Given the description of an element on the screen output the (x, y) to click on. 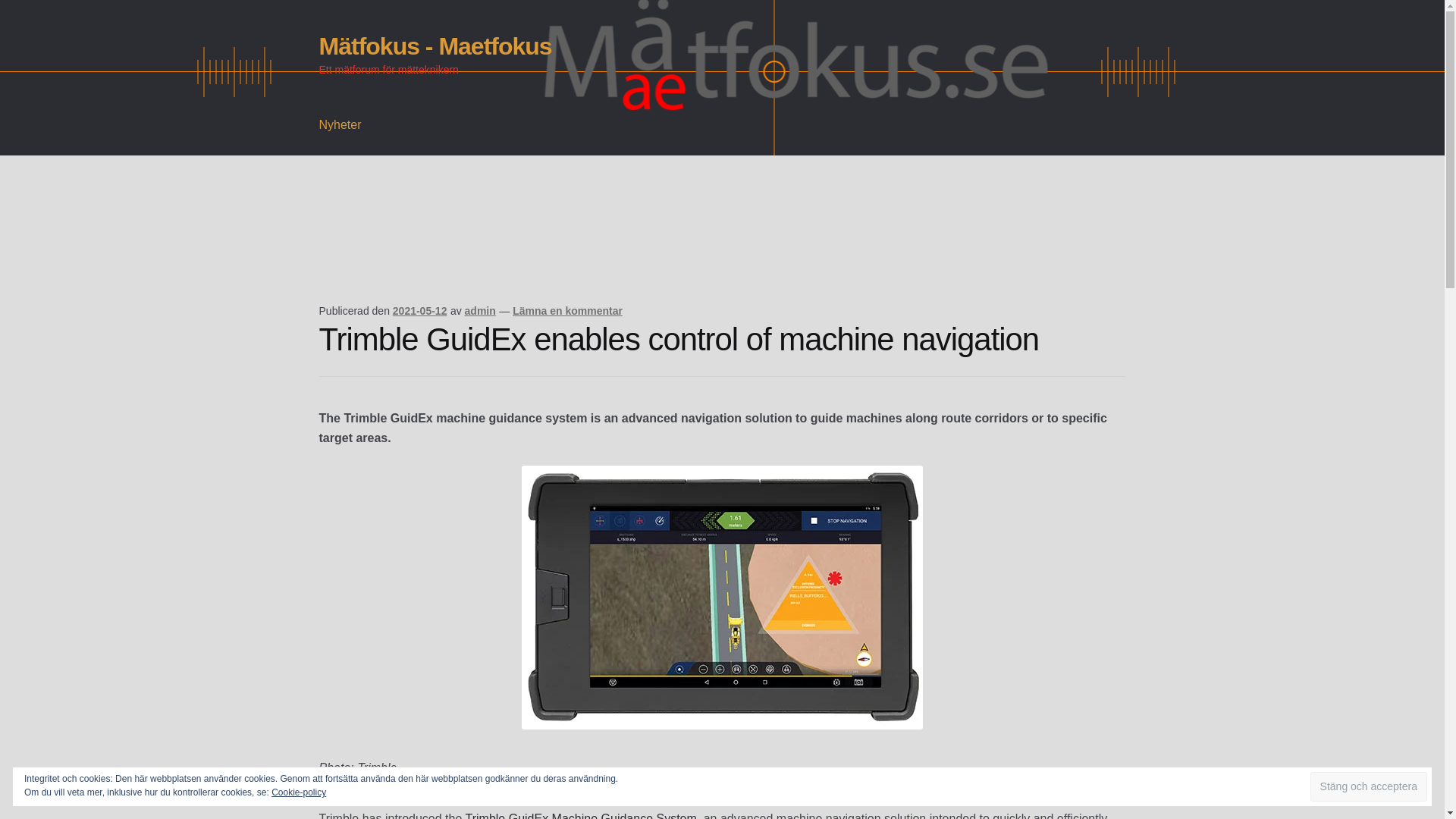
admin (480, 310)
2021-05-12 (419, 310)
Advertisement (594, 251)
Cookie-policy (298, 792)
Trimble GuidEx Machine Guidance System (581, 815)
Nyheter (340, 124)
